Given the description of an element on the screen output the (x, y) to click on. 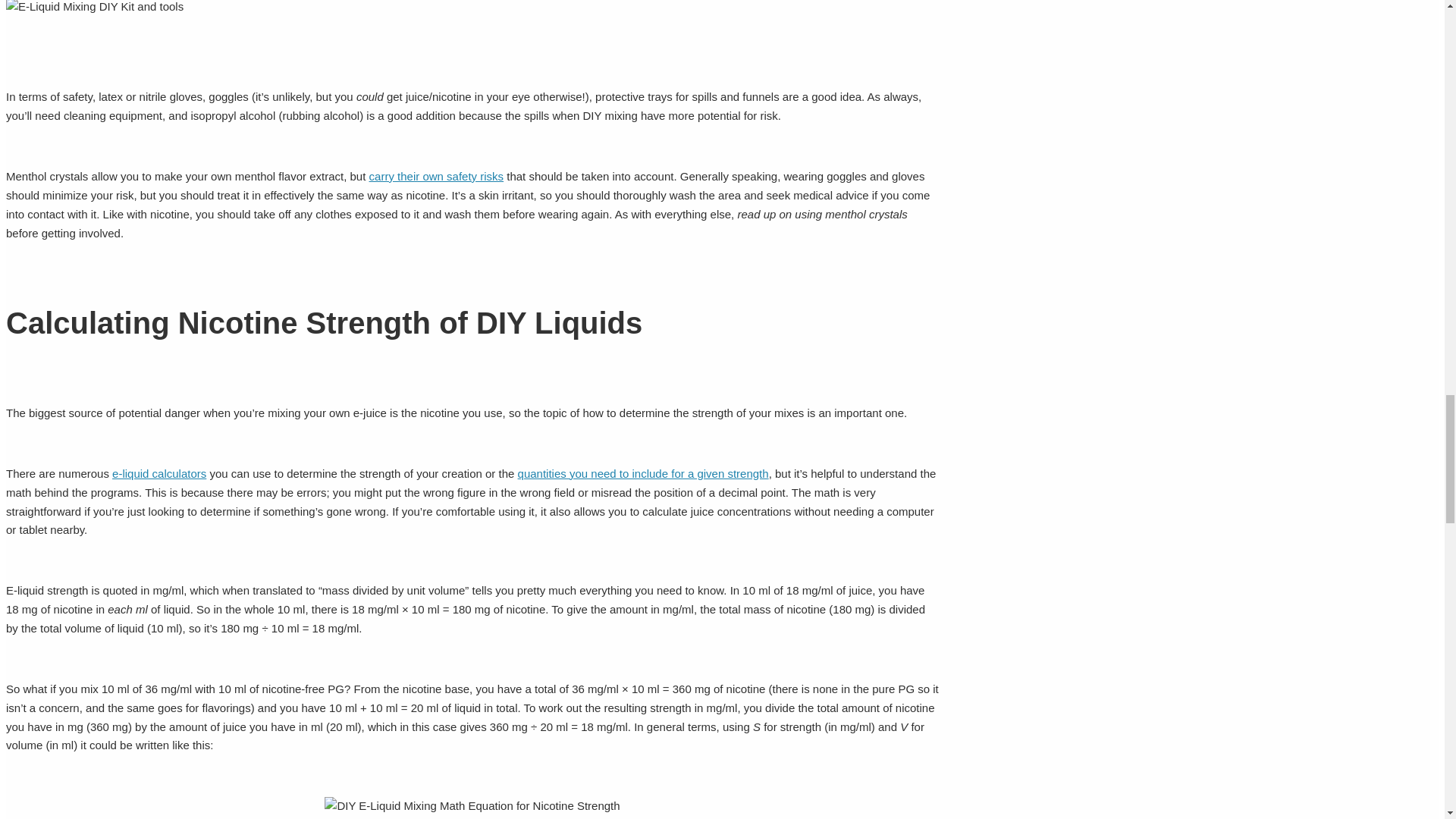
Calculating Nicotine Strength of DIY Liquids (472, 805)
quantities you need to include for a given strength (643, 472)
carry their own safety risks (436, 175)
e-liquid calculators (159, 472)
